Given the description of an element on the screen output the (x, y) to click on. 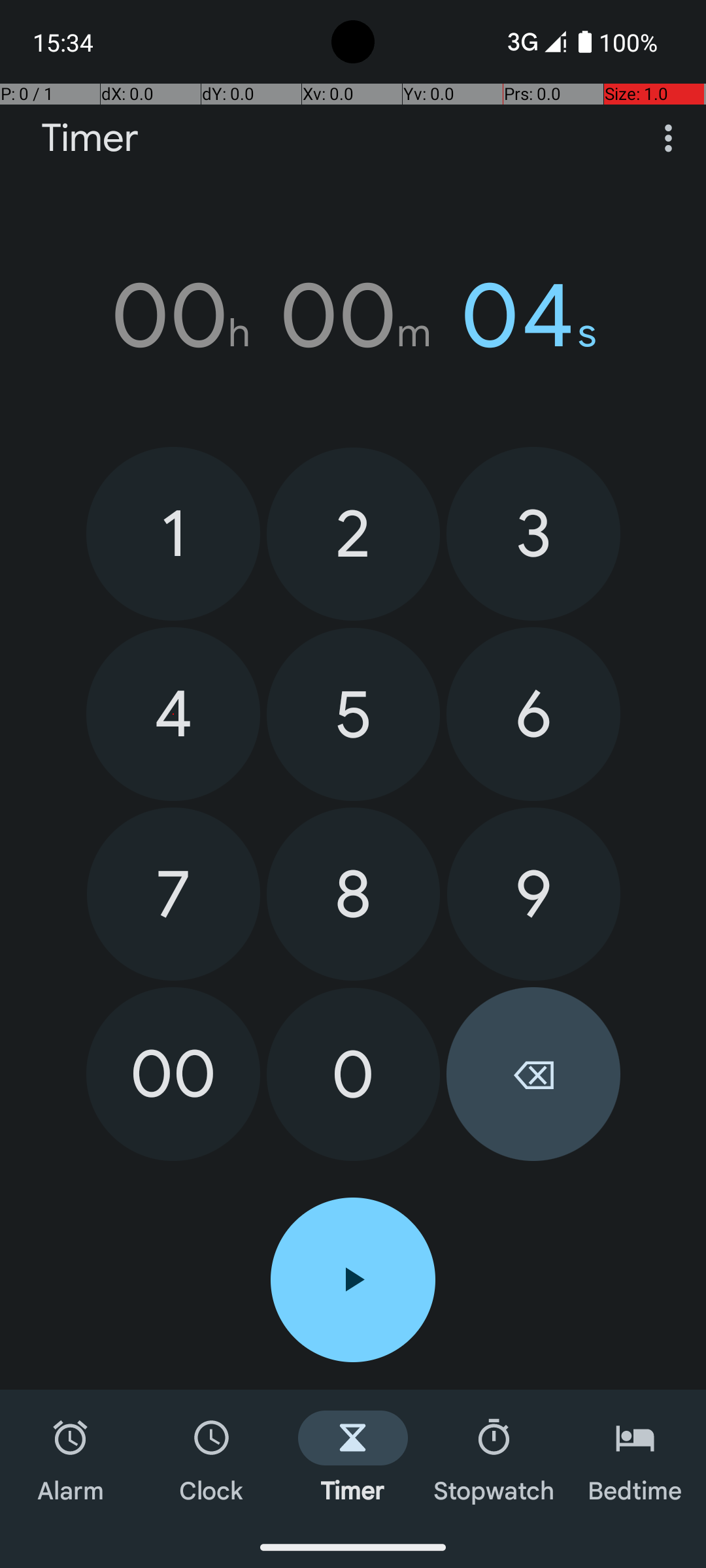
00h 00m 04s Element type: android.widget.TextView (353, 315)
